Given the description of an element on the screen output the (x, y) to click on. 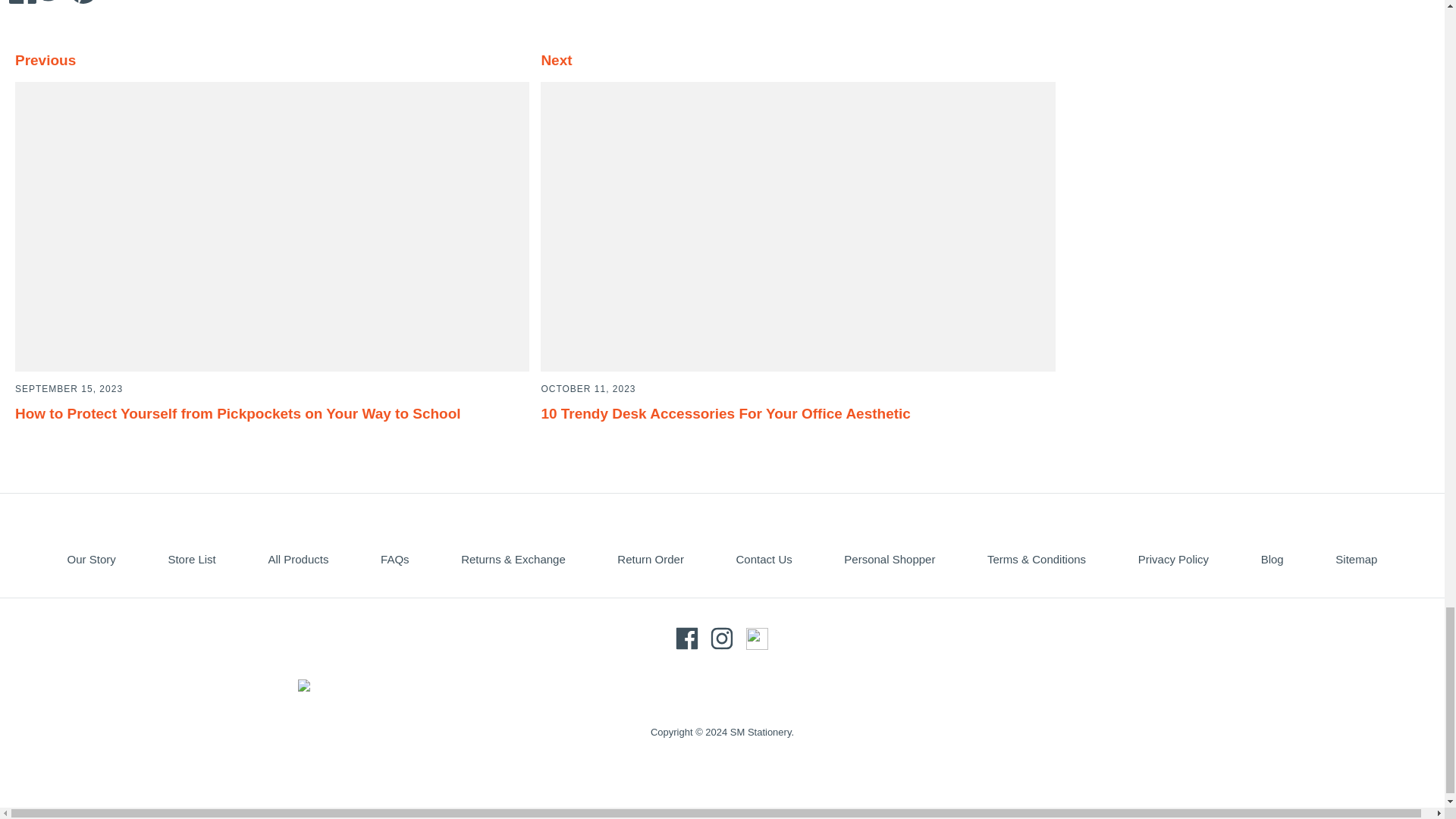
Facebook (686, 638)
Instagram (721, 638)
